Given the description of an element on the screen output the (x, y) to click on. 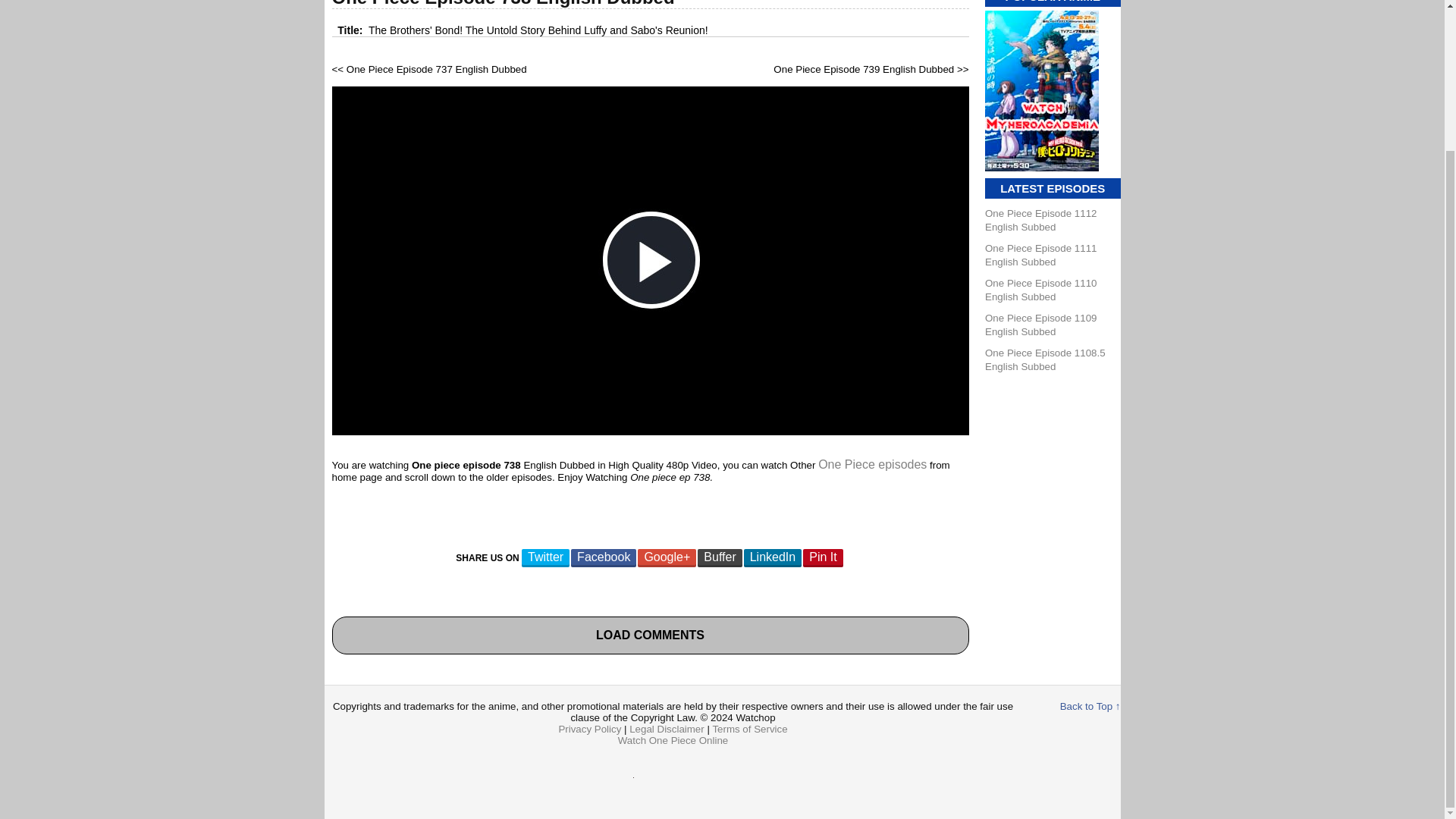
One Piece Episode 1109 English Subbed (1040, 324)
One Piece episodes (872, 463)
Watch One Piece Online (672, 740)
Privacy Policy (589, 728)
One Piece Episode 1111 English Subbed (1040, 254)
LOAD COMMENTS (649, 634)
One Piece Episode 739 English Dubbed (863, 69)
Buffer (719, 557)
Legal Disclaimer (666, 728)
Facebook (603, 557)
Twitter (545, 557)
LinkedIn (773, 557)
Pin It (823, 557)
One Piece Episode 1108.5 English Subbed (1045, 359)
One Piece Episode 1112 English Subbed (1040, 220)
